Given the description of an element on the screen output the (x, y) to click on. 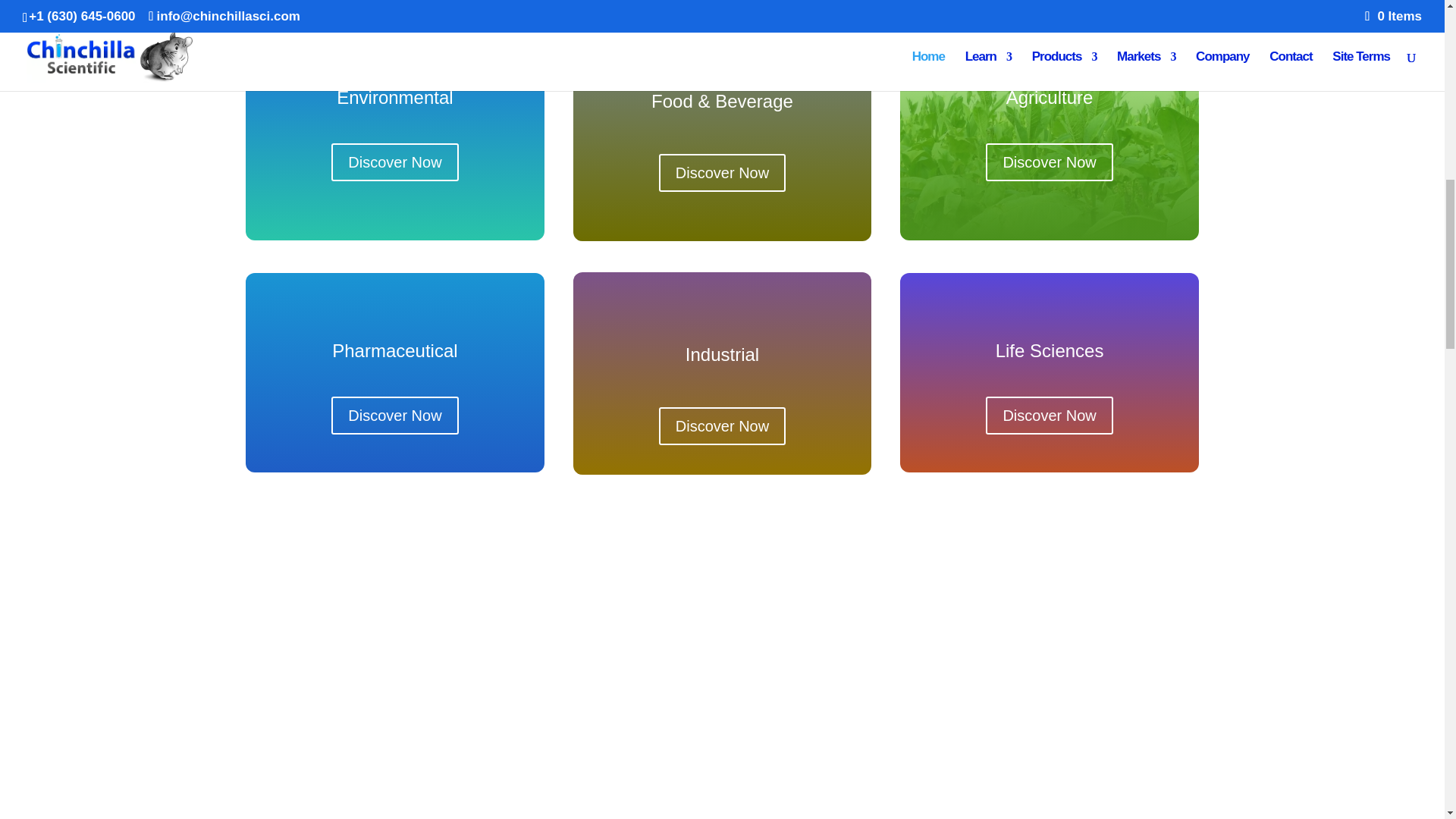
Discover Now (394, 161)
